Given the description of an element on the screen output the (x, y) to click on. 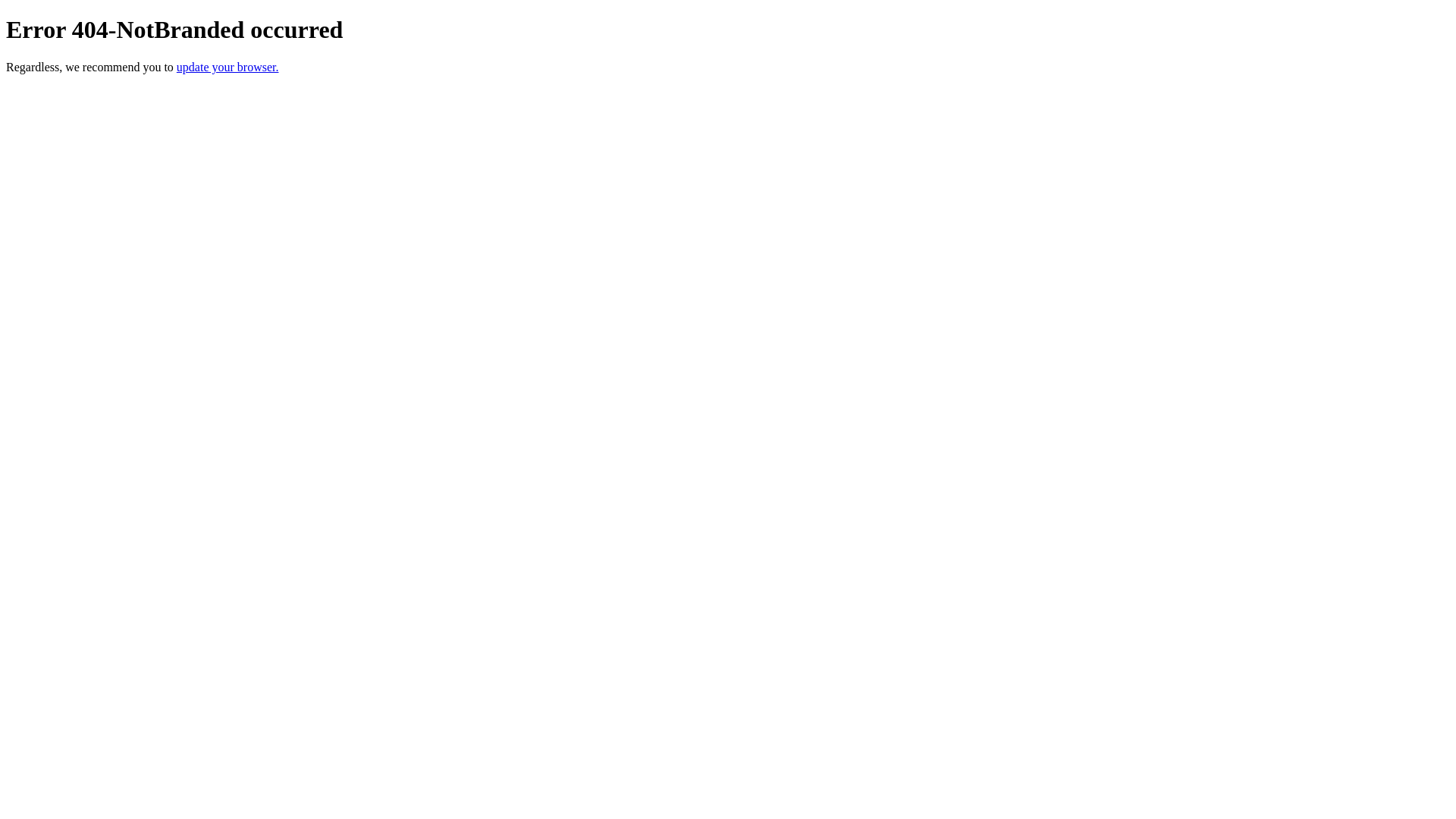
update your browser. Element type: text (227, 66)
